Given the description of an element on the screen output the (x, y) to click on. 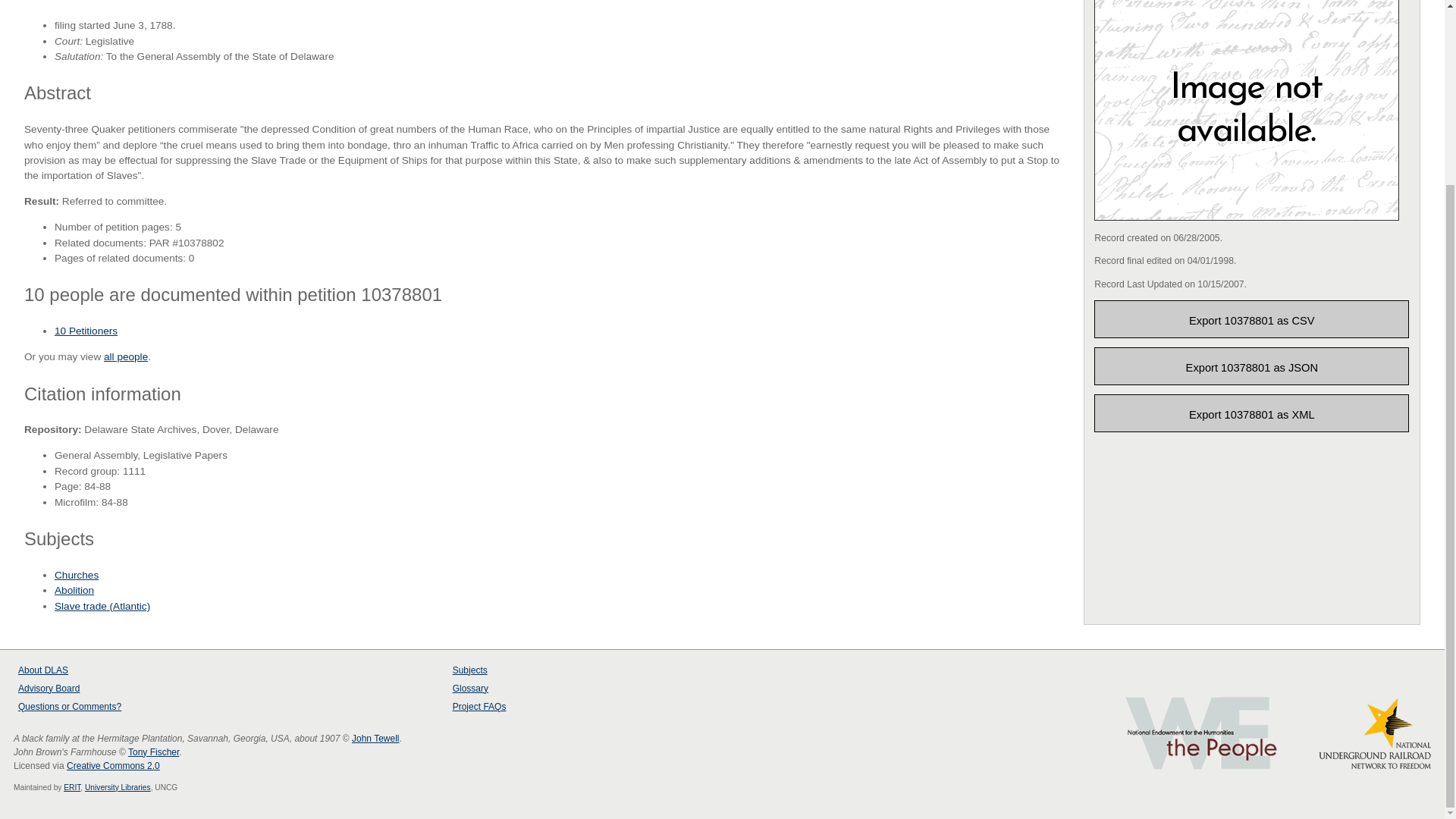
University Libraries (117, 786)
About DLAS (42, 670)
John Tewell (375, 738)
export record information as json (1251, 365)
Export 10378801 as CSV (1251, 319)
Churches (77, 574)
view all people in this record (125, 356)
no full image (1246, 110)
view 10 petitioners in this record (86, 330)
10 Petitioners (86, 330)
export record information as xml (1251, 412)
Export 10378801 as JSON (1251, 365)
Questions or Comments? (68, 706)
Tony Fischer (153, 751)
all people (125, 356)
